Given the description of an element on the screen output the (x, y) to click on. 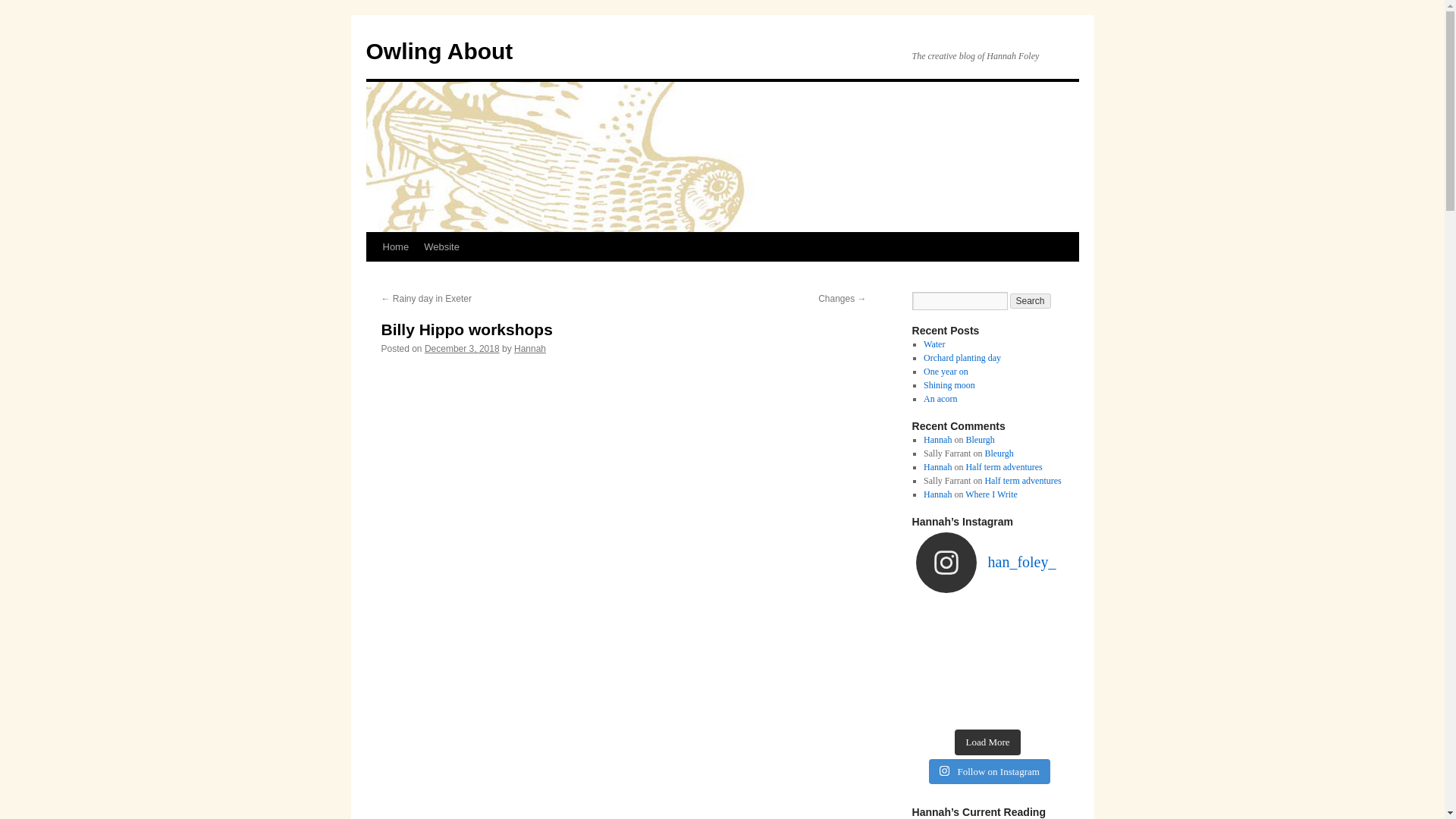
Shining moon (949, 385)
Hannah (937, 466)
Water (933, 344)
Hannah (529, 348)
Owling About (438, 50)
12:56 pm (462, 348)
Half term adventures (1003, 466)
One year on (945, 371)
Half term adventures (1022, 480)
Bleurgh (998, 452)
